Given the description of an element on the screen output the (x, y) to click on. 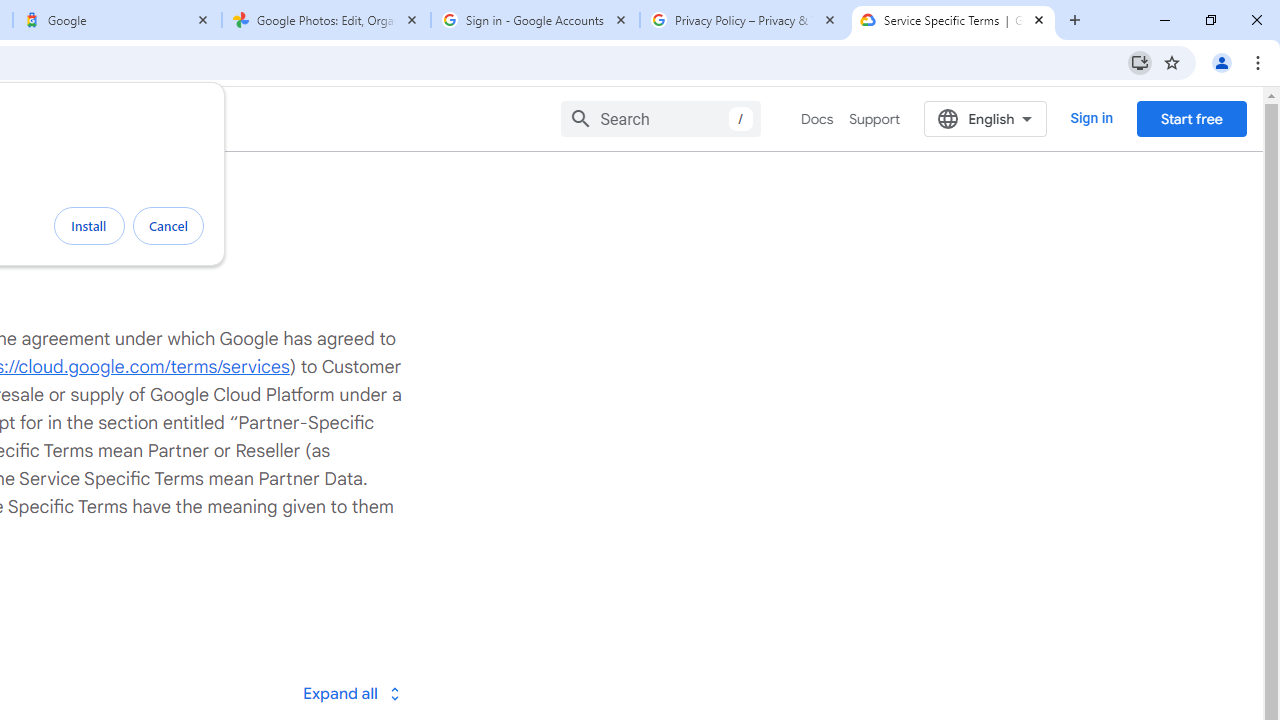
Install Google Cloud (1139, 62)
Google (116, 20)
Sign in - Google Accounts (535, 20)
Install (89, 225)
